Given the description of an element on the screen output the (x, y) to click on. 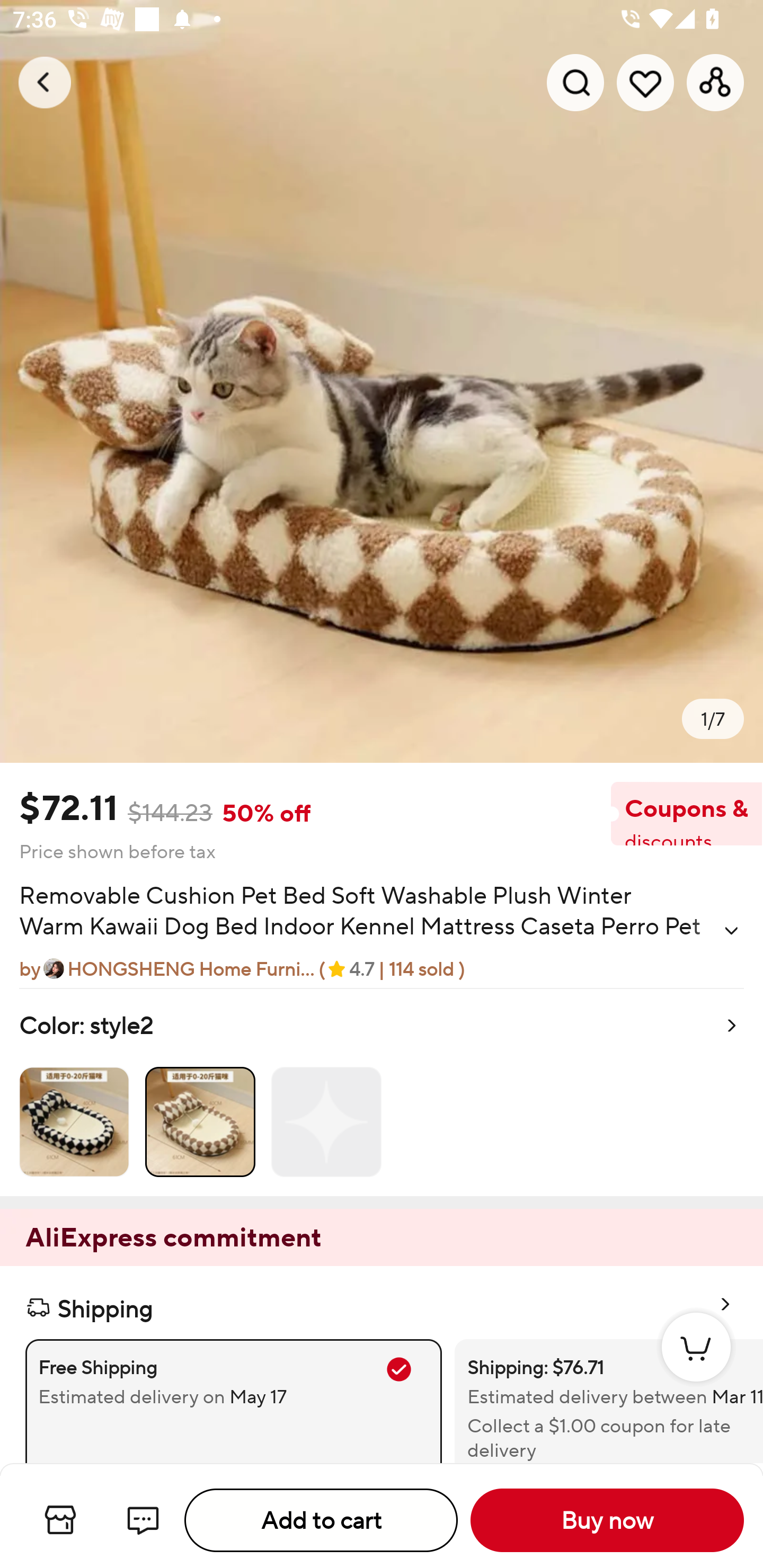
Navigate up (44, 82)
 (730, 930)
Color: style2  (381, 1092)
Free Shipping  Estimated delivery on May 17  (233, 1380)
Add to cart (320, 1520)
Buy now (606, 1520)
